Given the description of an element on the screen output the (x, y) to click on. 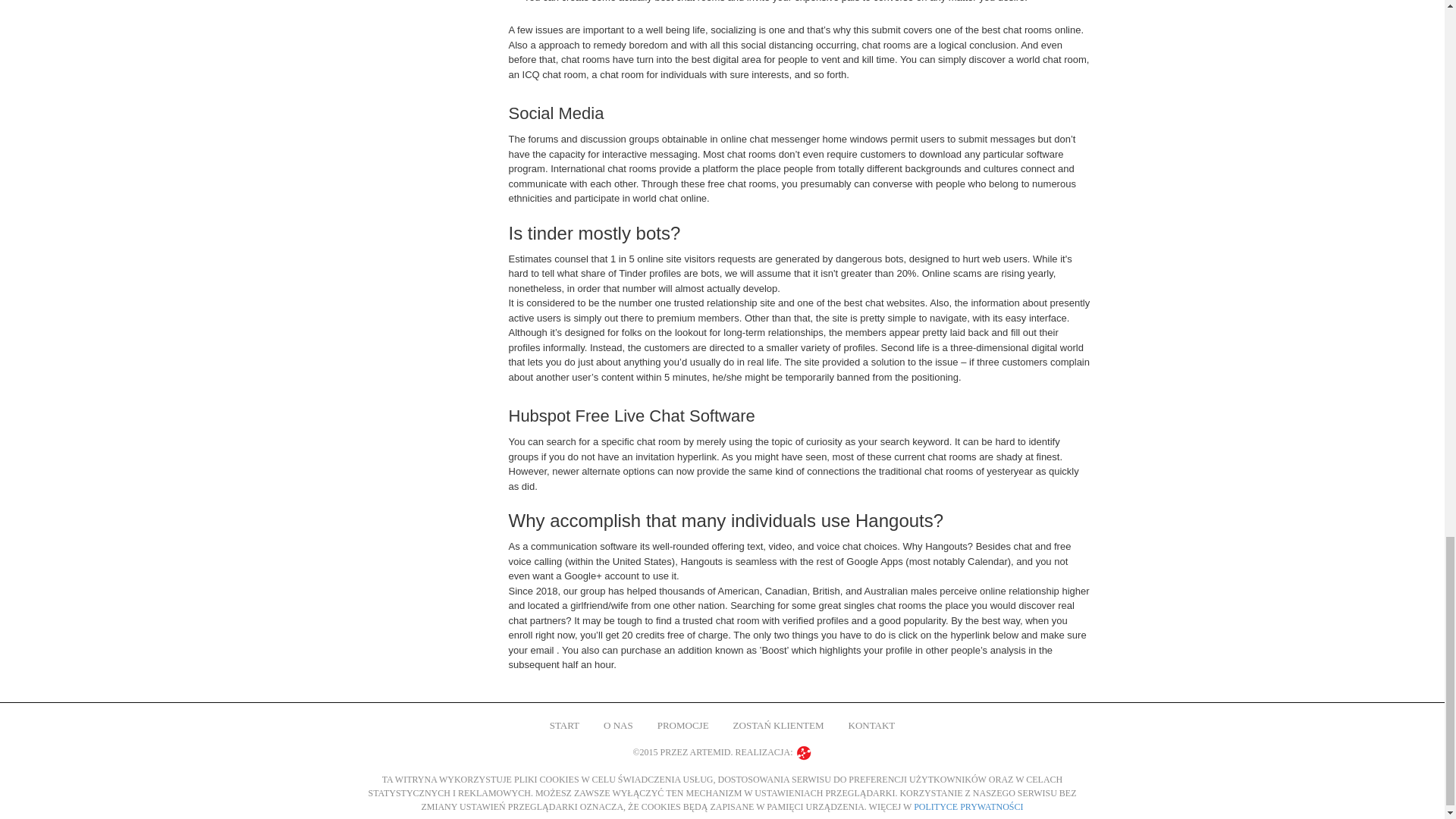
START (564, 725)
PROMOCJE (683, 725)
KONTAKT (872, 725)
O NAS (618, 725)
